Given the description of an element on the screen output the (x, y) to click on. 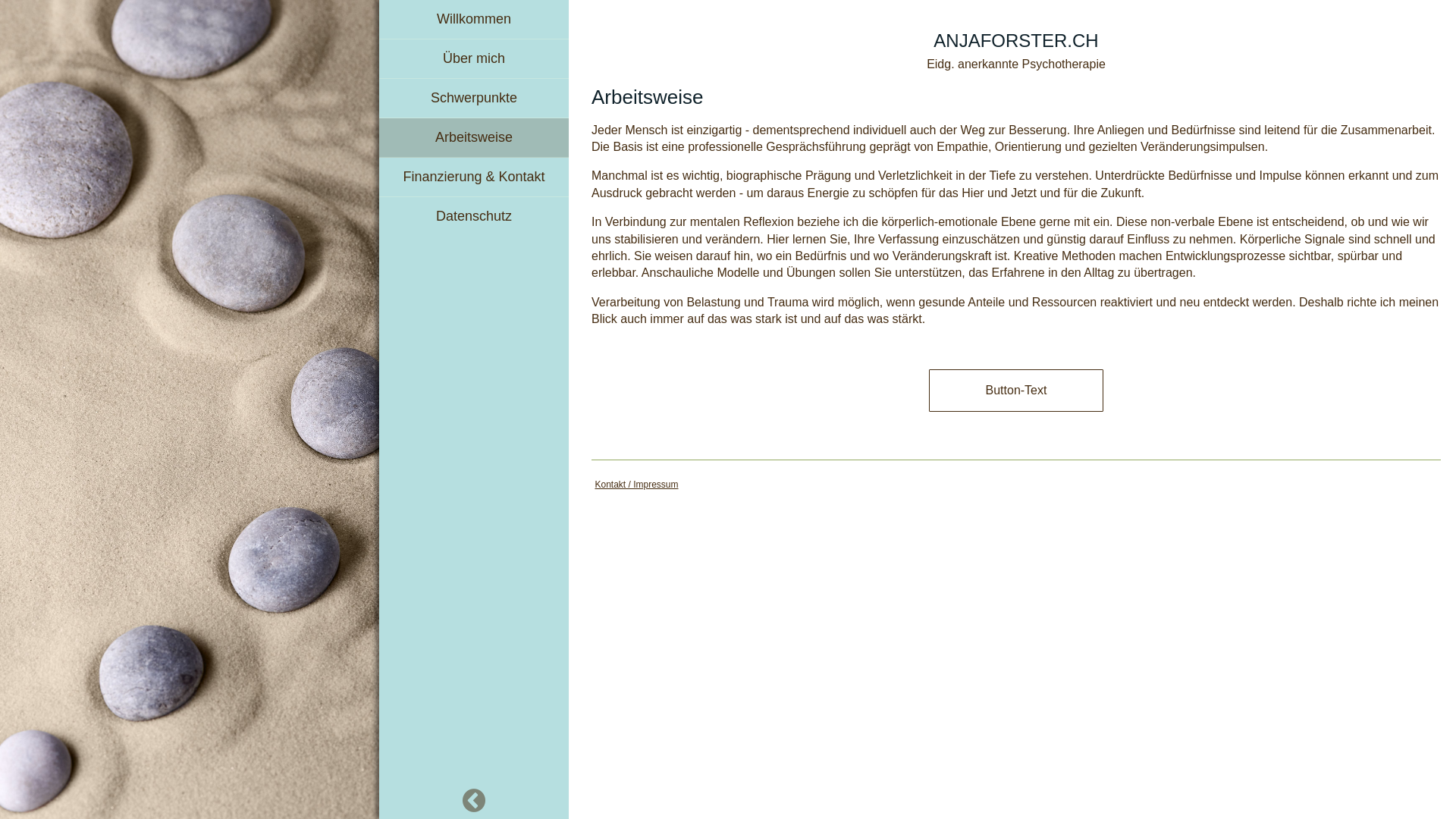
Kontakt / Impressum Element type: text (635, 484)
Schwerpunkte Element type: text (473, 98)
Arbeitsweise Element type: text (473, 137)
Willkommen Element type: text (473, 19)
Button-Text Element type: text (1015, 390)
Datenschutz Element type: text (473, 216)
Finanzierung & Kontakt Element type: text (473, 177)
